Given the description of an element on the screen output the (x, y) to click on. 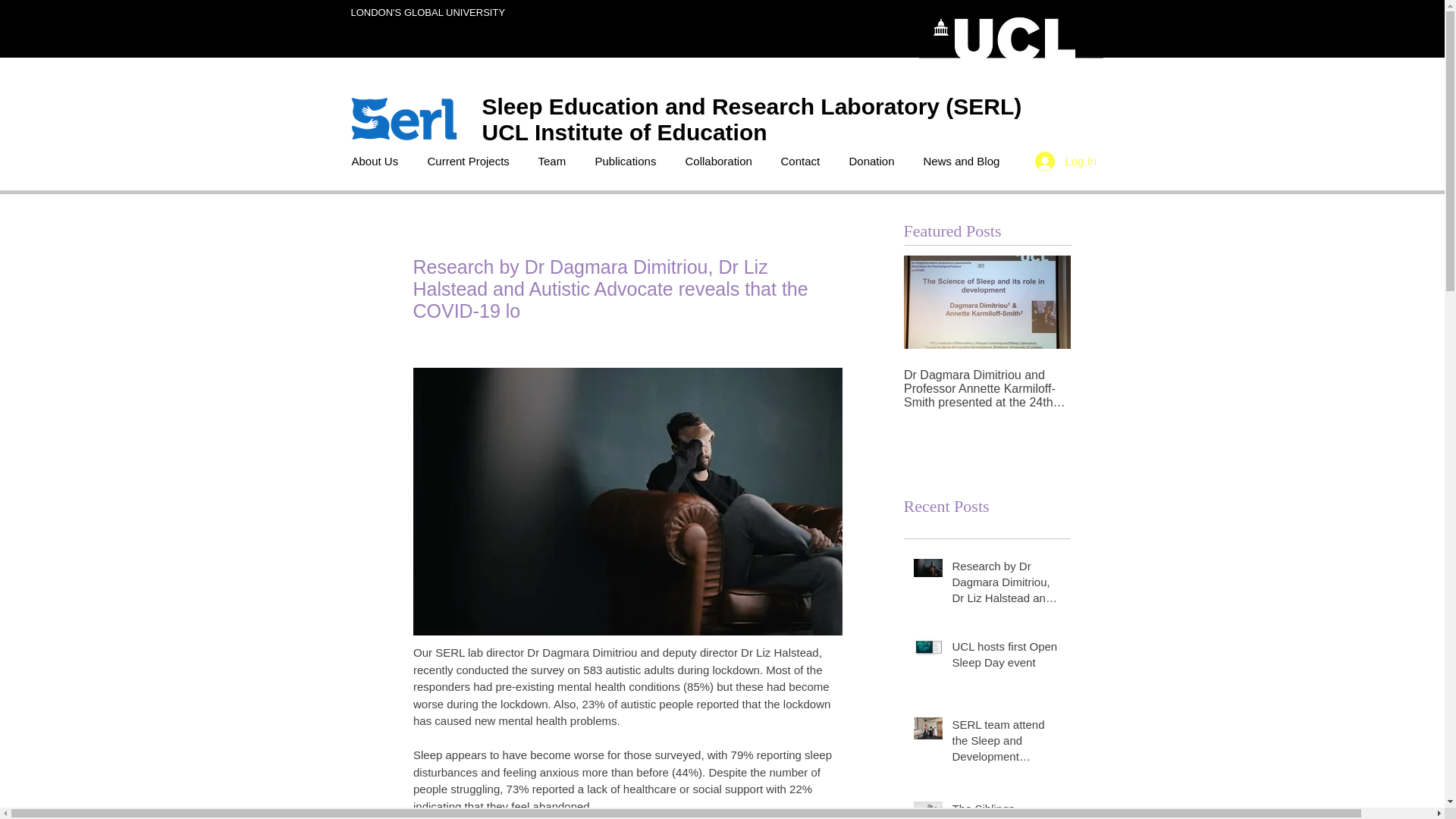
About Us (376, 161)
Contact (802, 161)
Publications (628, 161)
Log In (1058, 161)
Collaboration (720, 161)
Donation (874, 161)
UCL Institute of Education  (627, 131)
Current Projects (469, 161)
News and Blog (963, 161)
Team (554, 161)
